Given the description of an element on the screen output the (x, y) to click on. 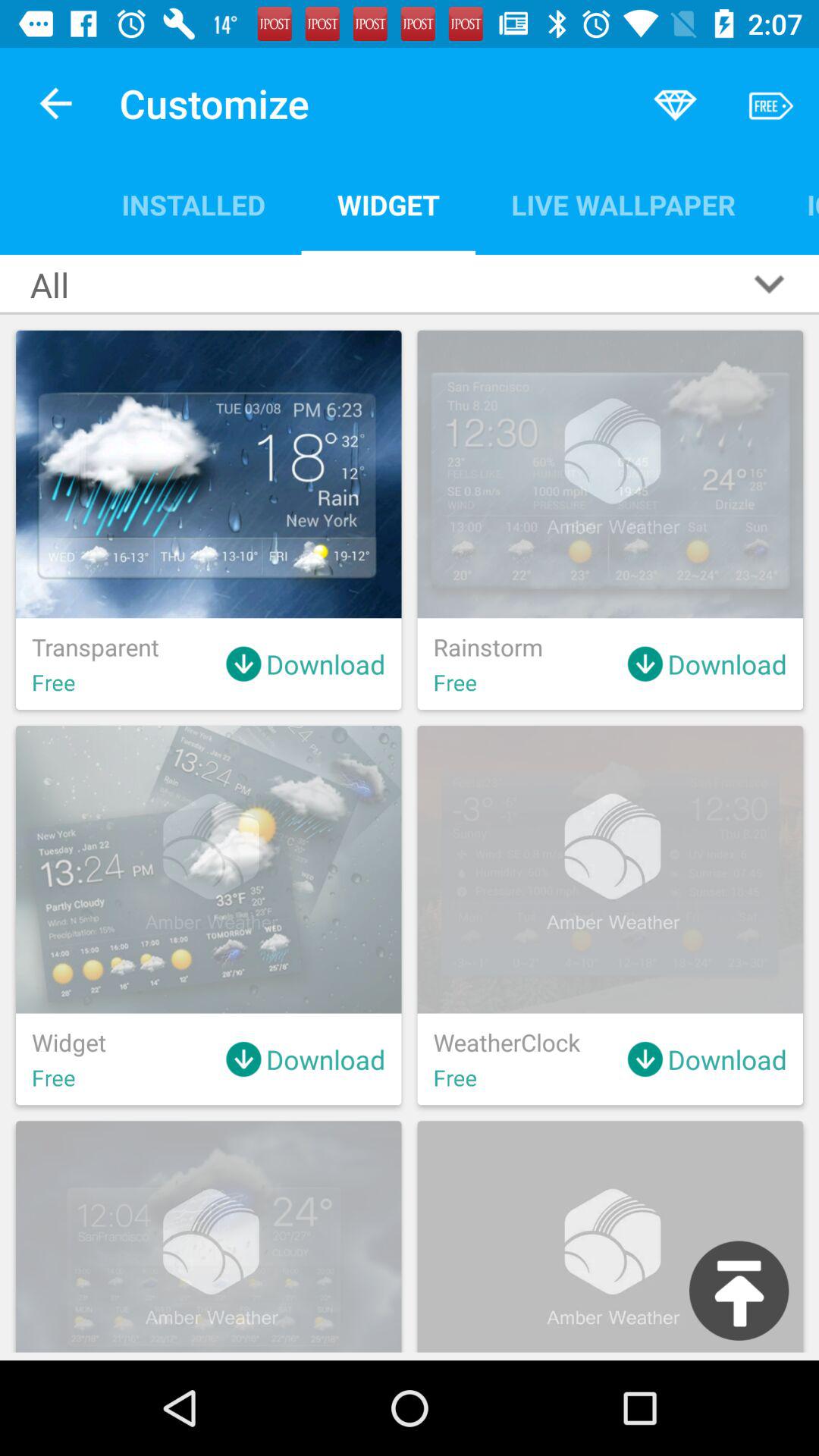
open the icon above the installed icon (55, 103)
